Given the description of an element on the screen output the (x, y) to click on. 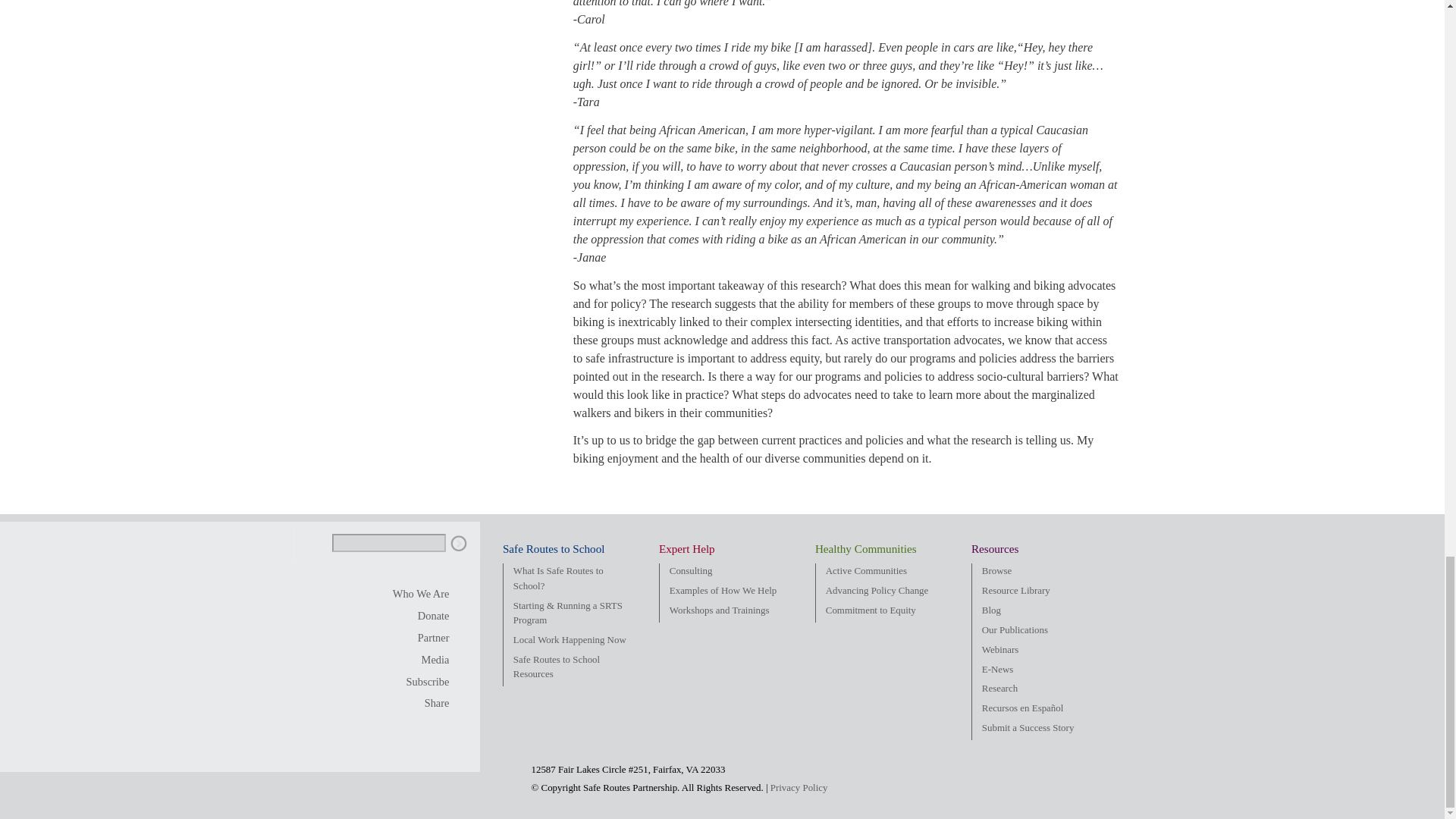
Media (421, 660)
Search (458, 543)
Join (421, 638)
Search (458, 543)
Enter the terms you wish to search for. (388, 542)
